Given the description of an element on the screen output the (x, y) to click on. 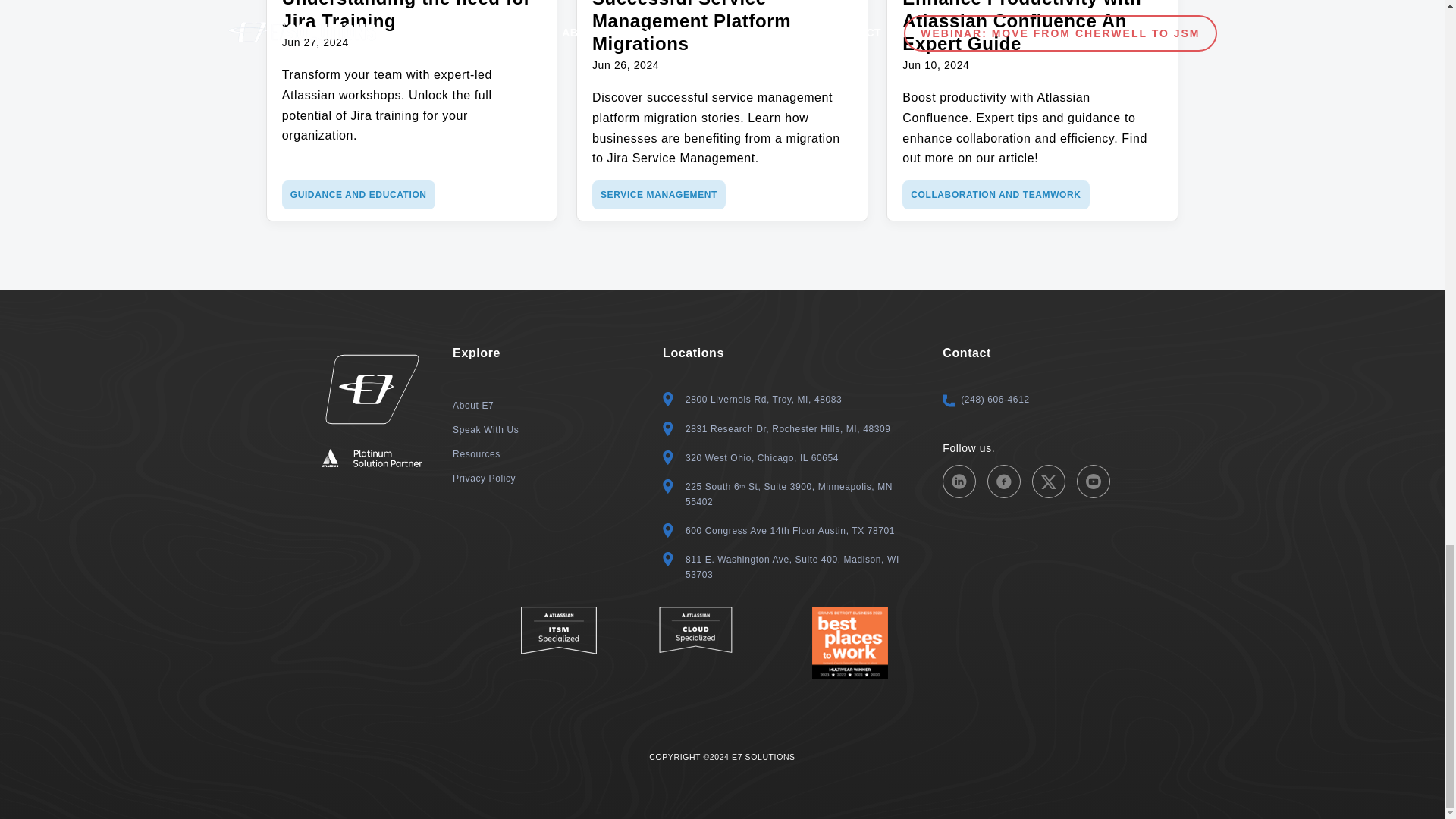
E7 Solutions on Facebook (1003, 481)
E7 Solutions (371, 388)
Crain's Multiyear logo (850, 642)
Atlassian ITMS Specialized Badge (557, 630)
E7 Solutions on Twitter (1048, 481)
E7 Solutions on YouTube (1093, 481)
Atlassian Platinum Solutions Partner (371, 457)
Atlassian Cloud Specialized Badge (694, 629)
E7 Solutions on LinkedIn (958, 481)
